Given the description of an element on the screen output the (x, y) to click on. 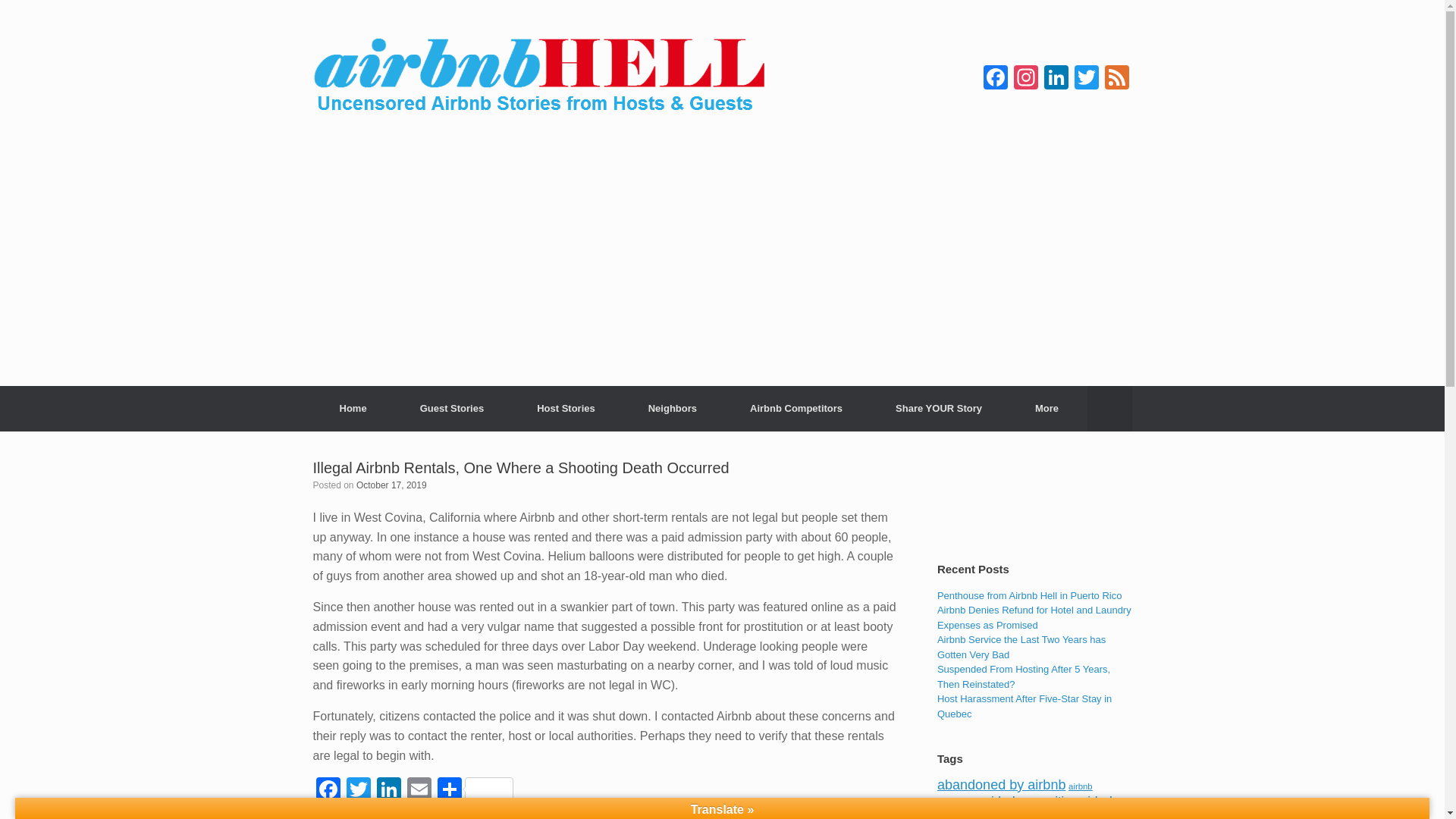
Read uncensored stories from Airbnb guests (452, 408)
Share YOUR Story (939, 408)
Facebook (994, 79)
LinkedIn (387, 791)
Facebook (327, 791)
Guest Stories (452, 408)
Facebook (994, 79)
Instagram (1025, 79)
Twitter (1085, 79)
October 17, 2019 (391, 484)
